Given the description of an element on the screen output the (x, y) to click on. 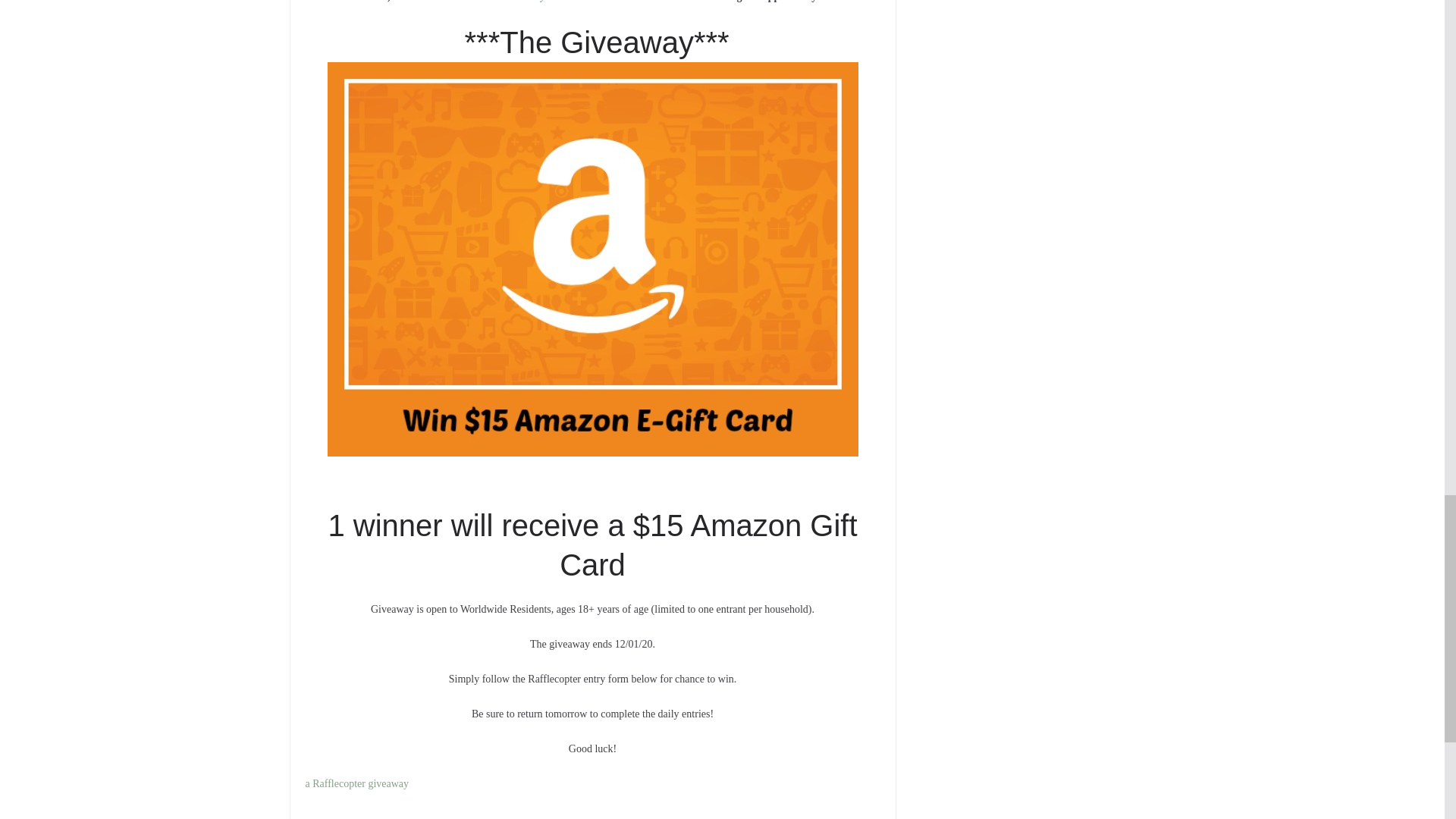
The Kids Did It (428, 1)
The Mommy Island (530, 1)
a Rafflecopter giveaway (356, 783)
